Given the description of an element on the screen output the (x, y) to click on. 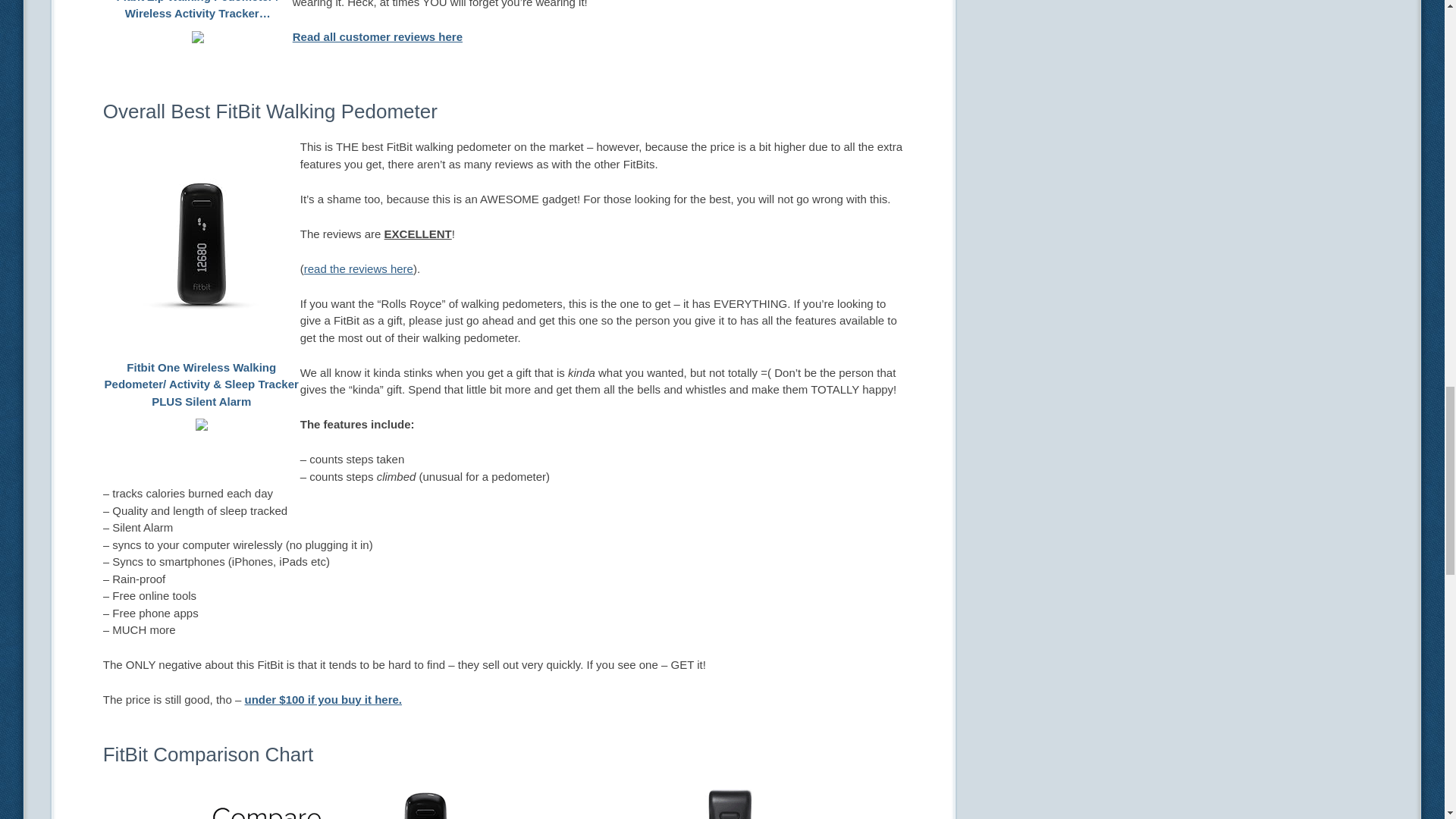
read the reviews here (358, 268)
Read all customer reviews here (377, 36)
